Given the description of an element on the screen output the (x, y) to click on. 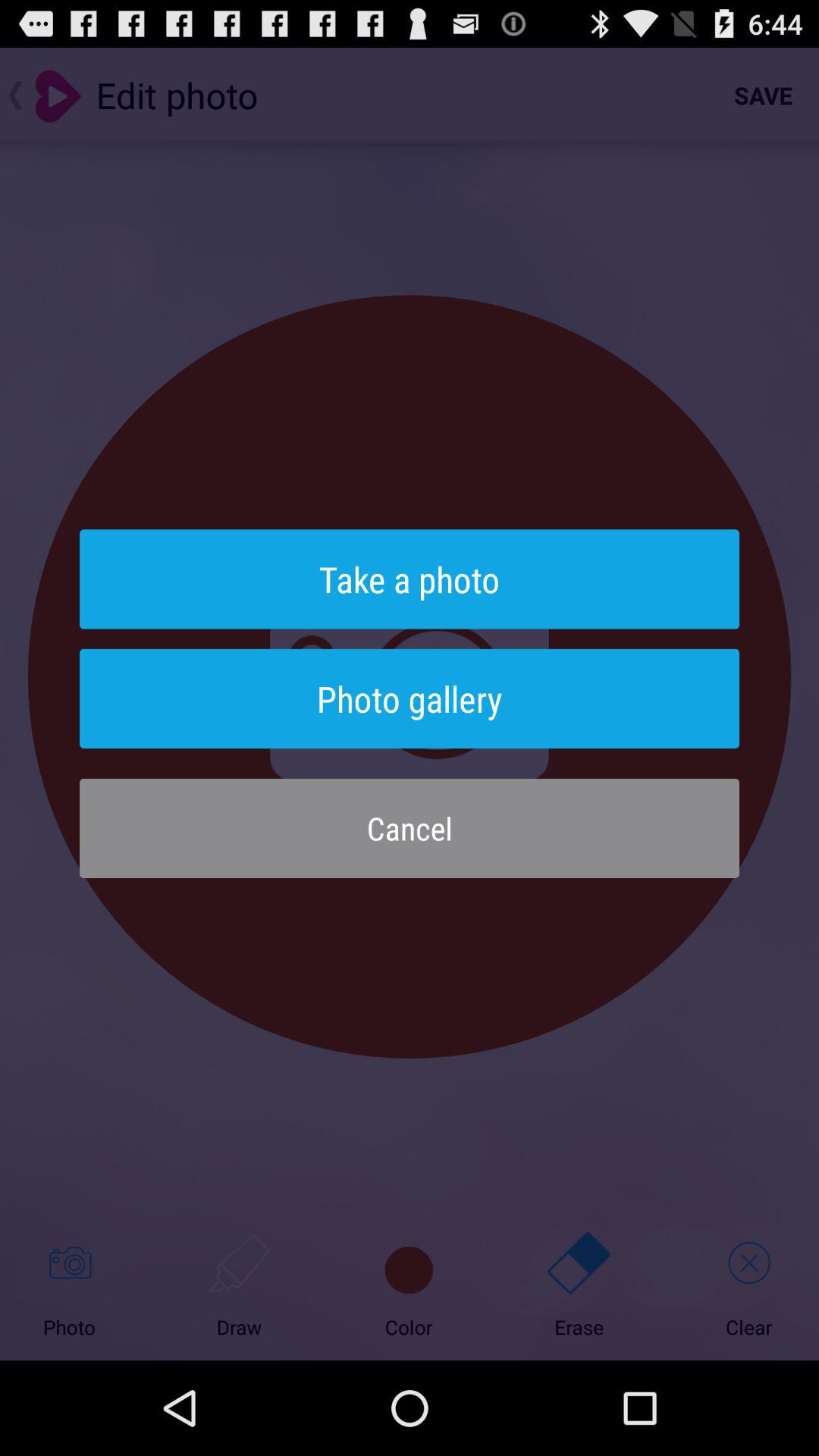
turn off cancel (409, 828)
